Given the description of an element on the screen output the (x, y) to click on. 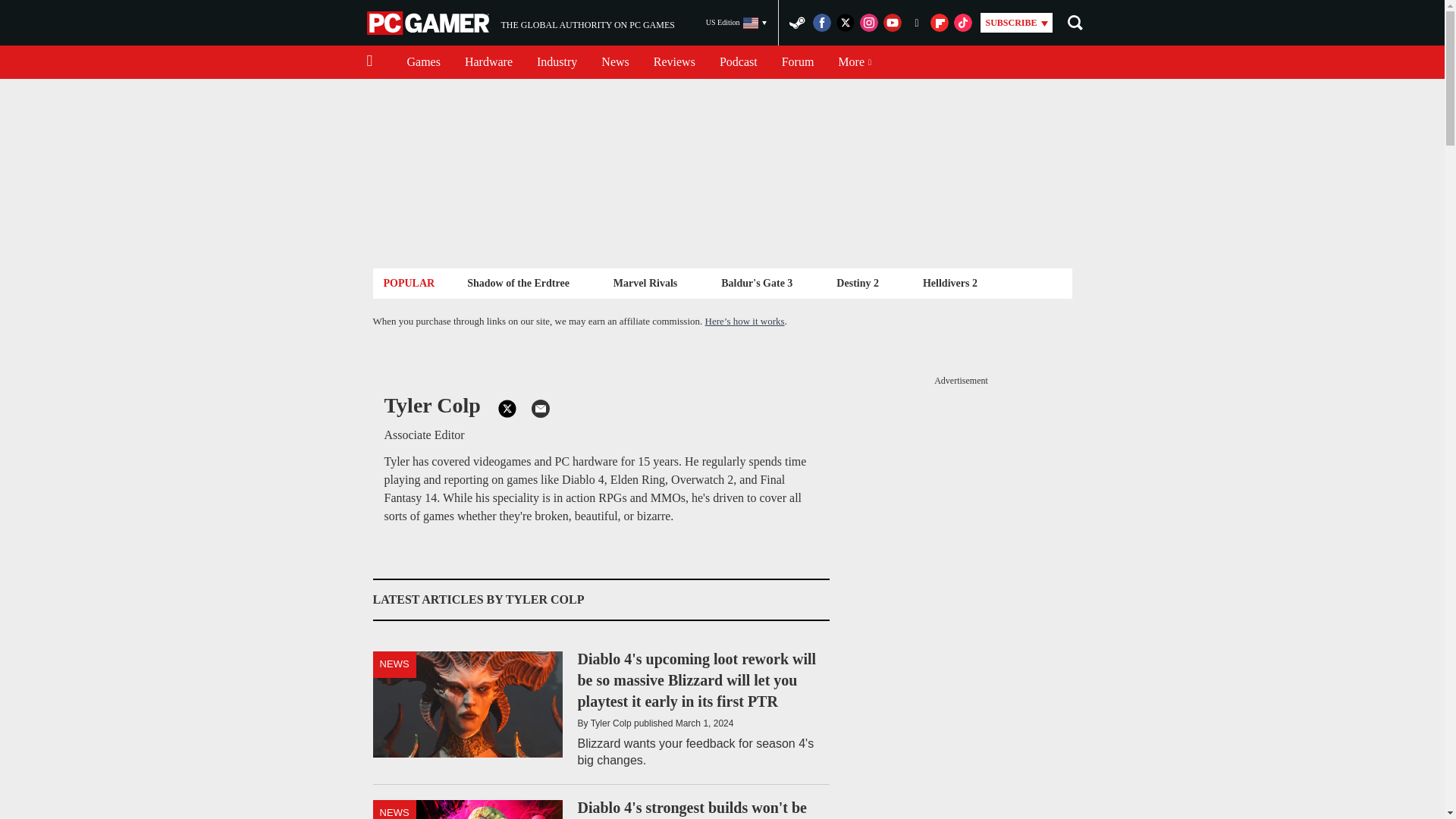
Hardware (488, 61)
US Edition (736, 22)
Reviews (674, 61)
Marvel Rivals (645, 282)
Industry (556, 61)
News (614, 61)
Podcast (738, 61)
Forum (798, 61)
Games (422, 61)
Shadow of the Erdtree (520, 22)
PC Gamer (518, 282)
